Given the description of an element on the screen output the (x, y) to click on. 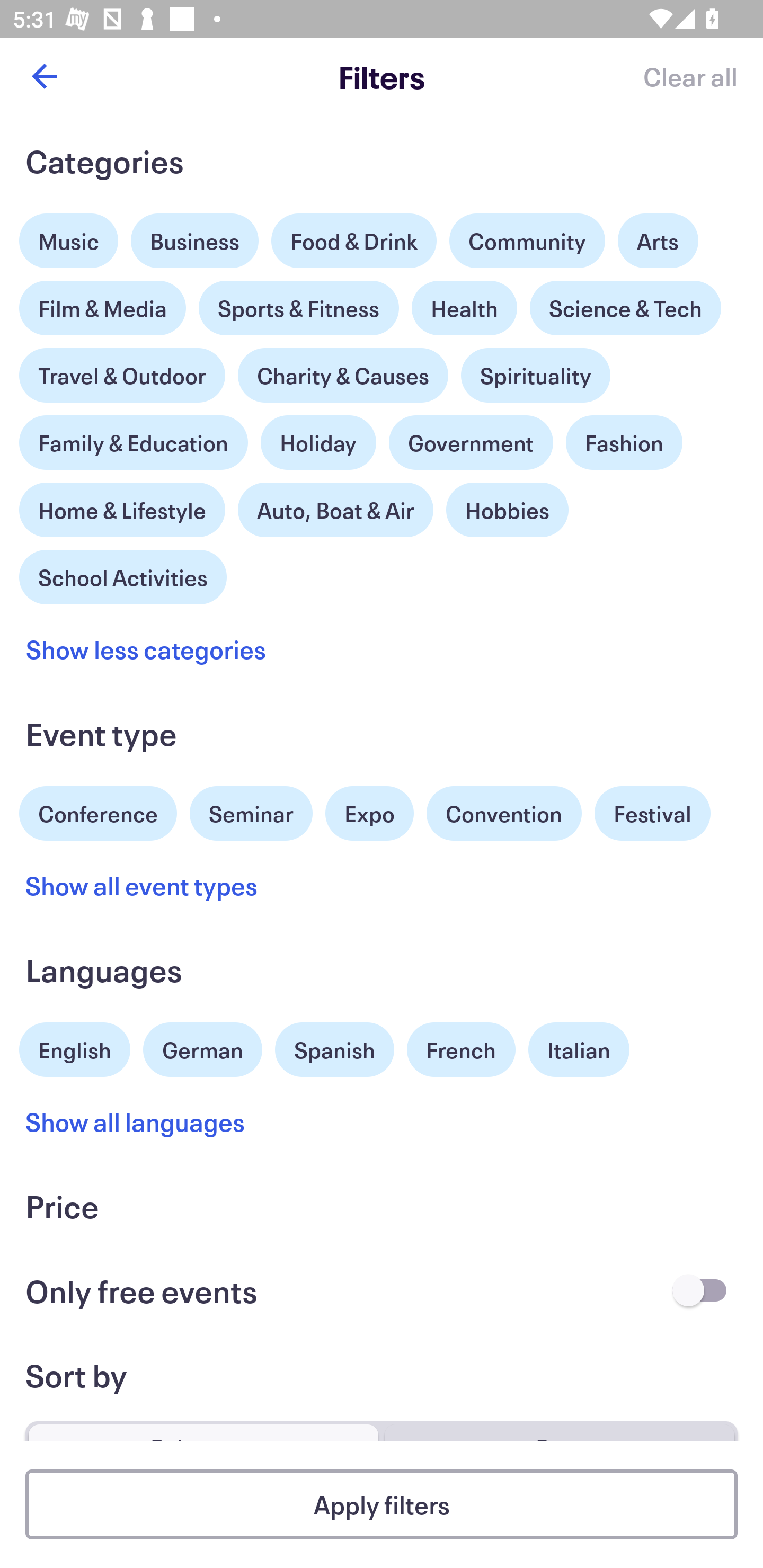
Back button (44, 75)
Clear all (690, 75)
Music (68, 235)
Business (194, 240)
Food & Drink (353, 240)
Community (527, 240)
Arts (658, 235)
Film & Media (102, 303)
Sports & Fitness (298, 307)
Health (464, 307)
Science & Tech (625, 307)
Travel & Outdoor (122, 370)
Charity & Causes (343, 375)
Spirituality (535, 375)
Family & Education (133, 442)
Holiday (318, 437)
Government (471, 442)
Fashion (624, 442)
Home & Lifestyle (122, 505)
Auto, Boat & Air (335, 509)
Hobbies (507, 509)
School Activities (122, 575)
Show less categories (145, 648)
Conference (98, 811)
Seminar (250, 813)
Expo (369, 813)
Convention (503, 813)
Festival (652, 813)
Show all event types (141, 884)
English (74, 1047)
German (202, 1047)
Spanish (334, 1049)
French (460, 1049)
Italian (578, 1049)
Show all languages (135, 1121)
Apply filters (381, 1504)
